Given the description of an element on the screen output the (x, y) to click on. 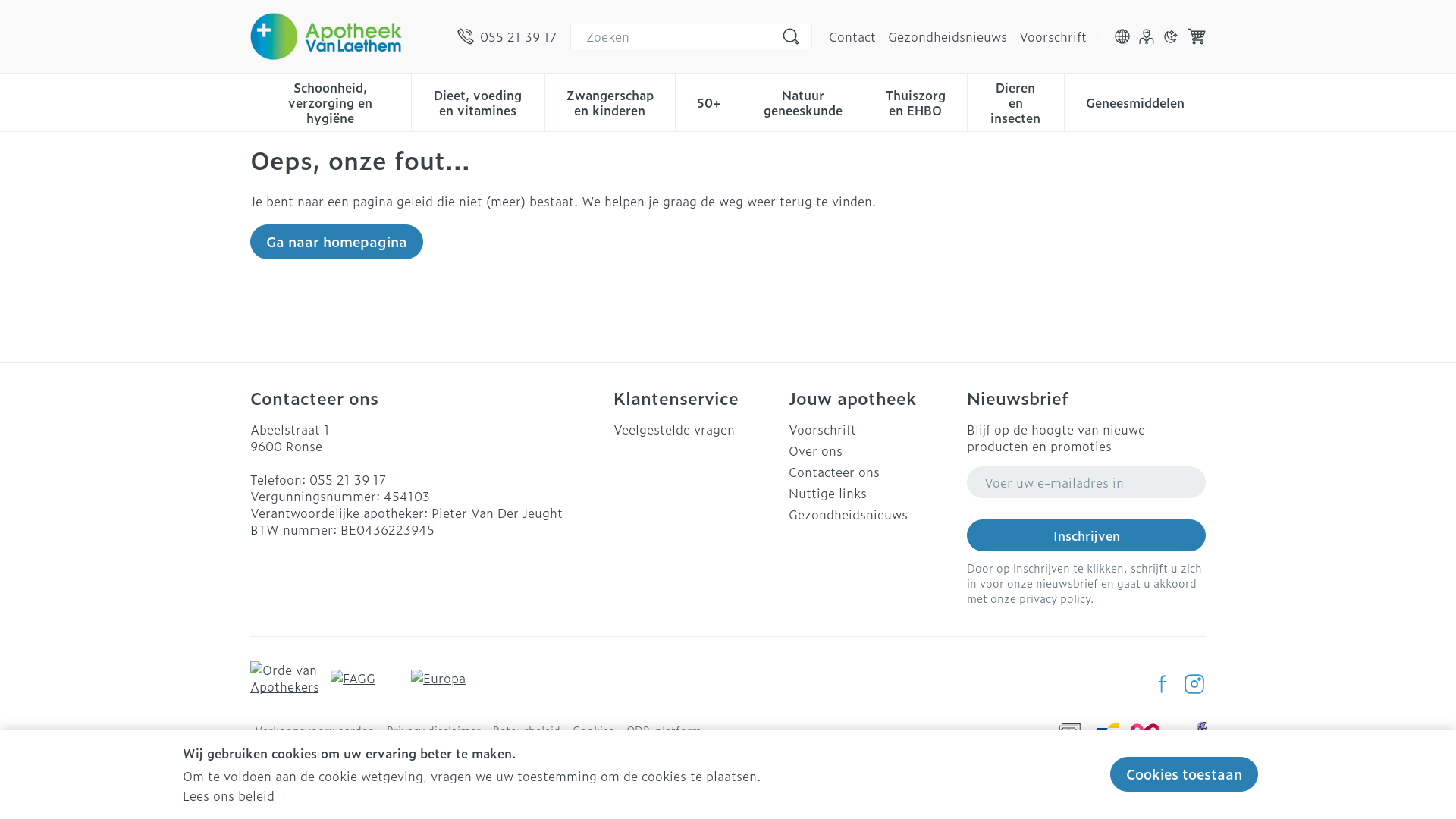
Voorschrift Element type: text (871, 428)
Privacy disclaimer Element type: text (433, 729)
Retourbeleid Element type: text (526, 729)
Zoeken Element type: text (790, 36)
055 21 39 17 Element type: text (347, 479)
Apotheek Van Laethem Element type: hover (325, 35)
Contacteer ons Element type: text (871, 471)
Winkelwagen Element type: text (1196, 36)
055 21 39 17 Element type: text (506, 36)
Instagram Element type: hover (1194, 683)
privacy policy Element type: text (1054, 597)
Voorschrift Element type: text (1052, 36)
Inschrijven Element type: text (1085, 535)
Contact Element type: text (851, 36)
Talen Element type: text (1121, 35)
50+ Element type: text (708, 100)
Cookies toestaan Element type: text (1184, 773)
Natuur geneeskunde Element type: text (802, 100)
Over ons Element type: text (871, 450)
Dieren en insecten Element type: text (1015, 100)
Gezondheidsnieuws Element type: text (947, 36)
Facebook Element type: hover (1162, 683)
Ga naar homepagina Element type: text (336, 241)
Lees ons beleid Element type: text (228, 795)
Dieet, voeding en vitamines Element type: text (477, 100)
Veelgestelde vragen Element type: text (695, 428)
Zwangerschap en kinderen Element type: text (609, 100)
Gezondheidsnieuws Element type: text (871, 513)
Klant menu Element type: text (1146, 35)
Donkere modus Element type: text (1170, 35)
Nuttige links Element type: text (871, 492)
Cookies Element type: text (593, 729)
Verkoopsvoorwaarden Element type: text (314, 729)
Apotheek Van Laethem Element type: hover (347, 36)
ODR-platform Element type: text (663, 729)
Thuiszorg en EHBO Element type: text (915, 100)
Geneesmiddelen Element type: text (1134, 100)
